Given the description of an element on the screen output the (x, y) to click on. 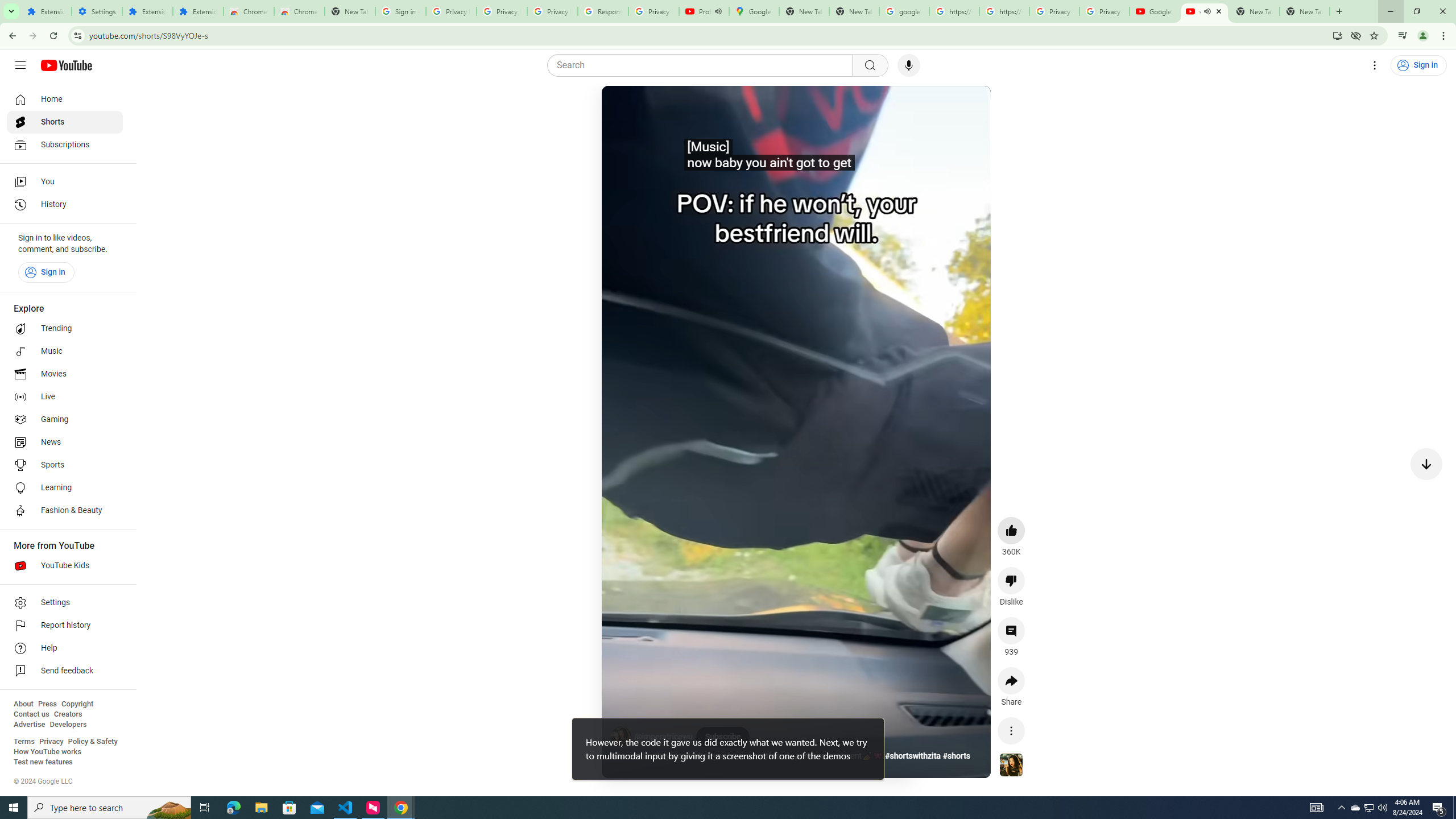
You (64, 181)
Forward (32, 35)
Bookmark this tab (1373, 35)
Restore (1416, 11)
#shorts (956, 756)
Chrome Web Store - Themes (299, 11)
Address and search bar (707, 35)
Live (64, 396)
Minimize (1390, 11)
Reload (52, 35)
Shorts (64, 121)
Mute (657, 108)
